Given the description of an element on the screen output the (x, y) to click on. 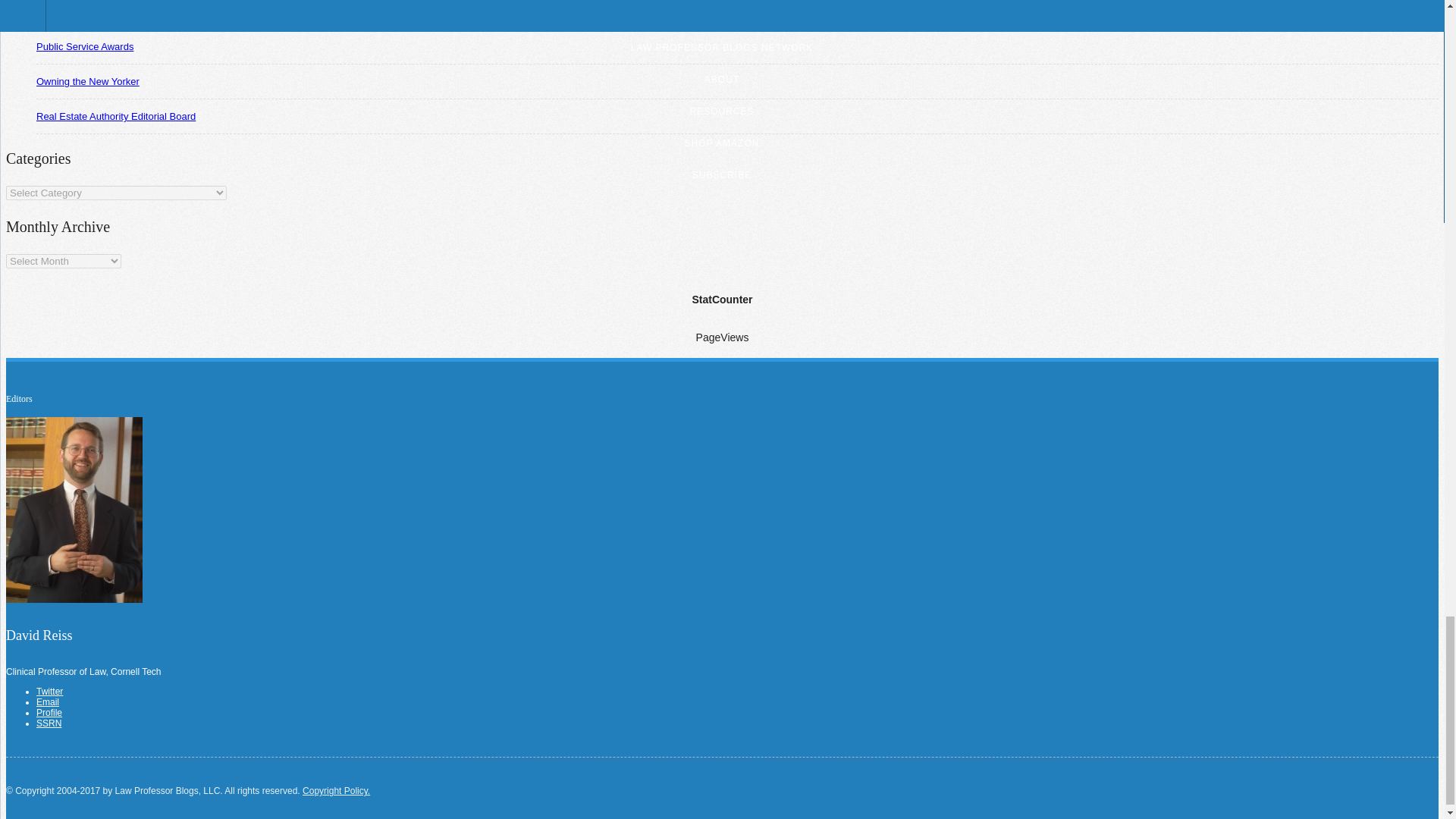
Look NYC Rent Guidelines Board Final Vote Interview (141, 11)
Look Owning the New Yorker (87, 81)
Look Real Estate Authority Editorial Board (115, 116)
Look Public Service Awards (84, 46)
